Given the description of an element on the screen output the (x, y) to click on. 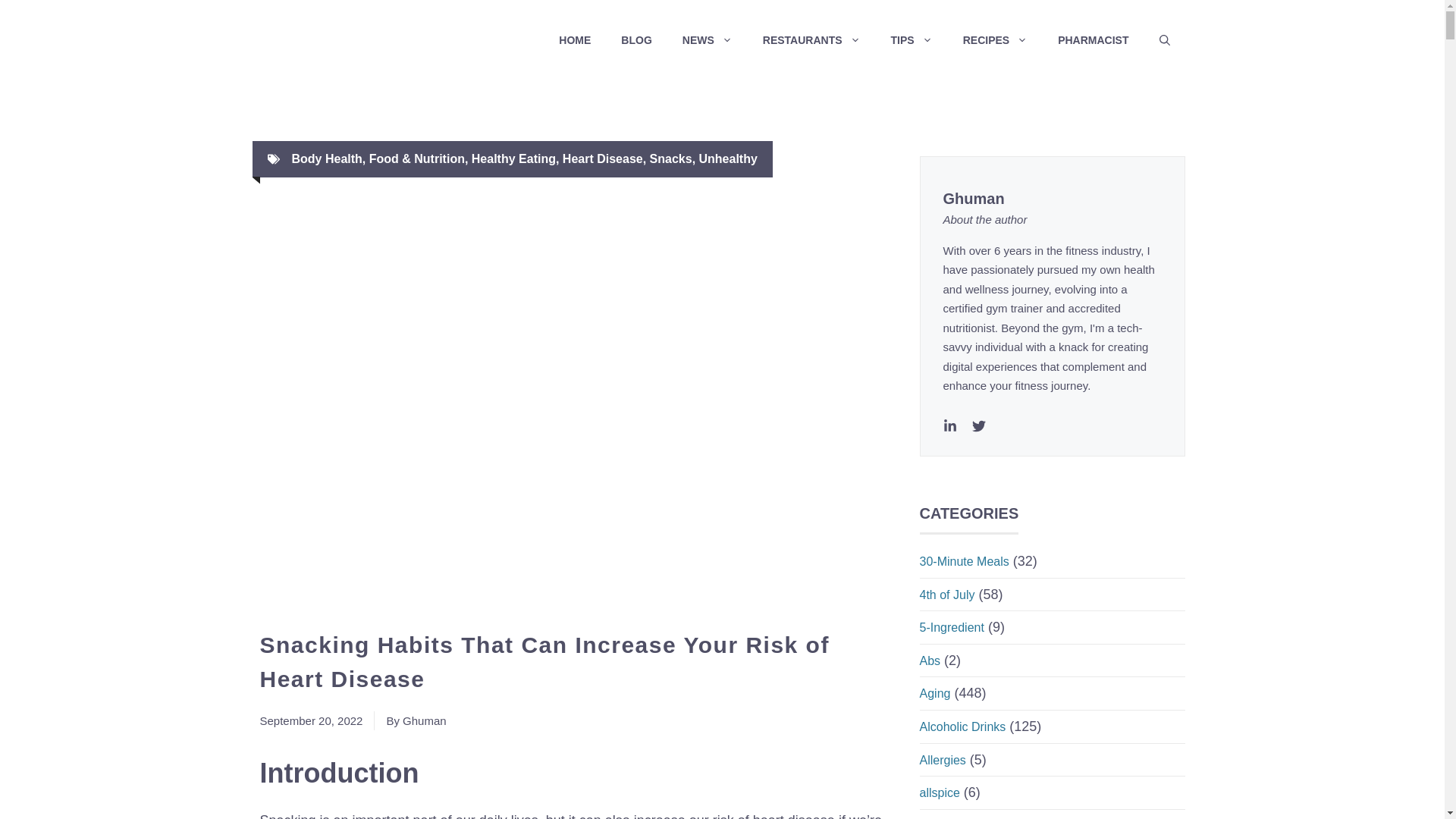
BLOG (635, 40)
RECIPES (994, 40)
TIPS (911, 40)
NEWS (707, 40)
HOME (574, 40)
RESTAURANTS (812, 40)
